Given the description of an element on the screen output the (x, y) to click on. 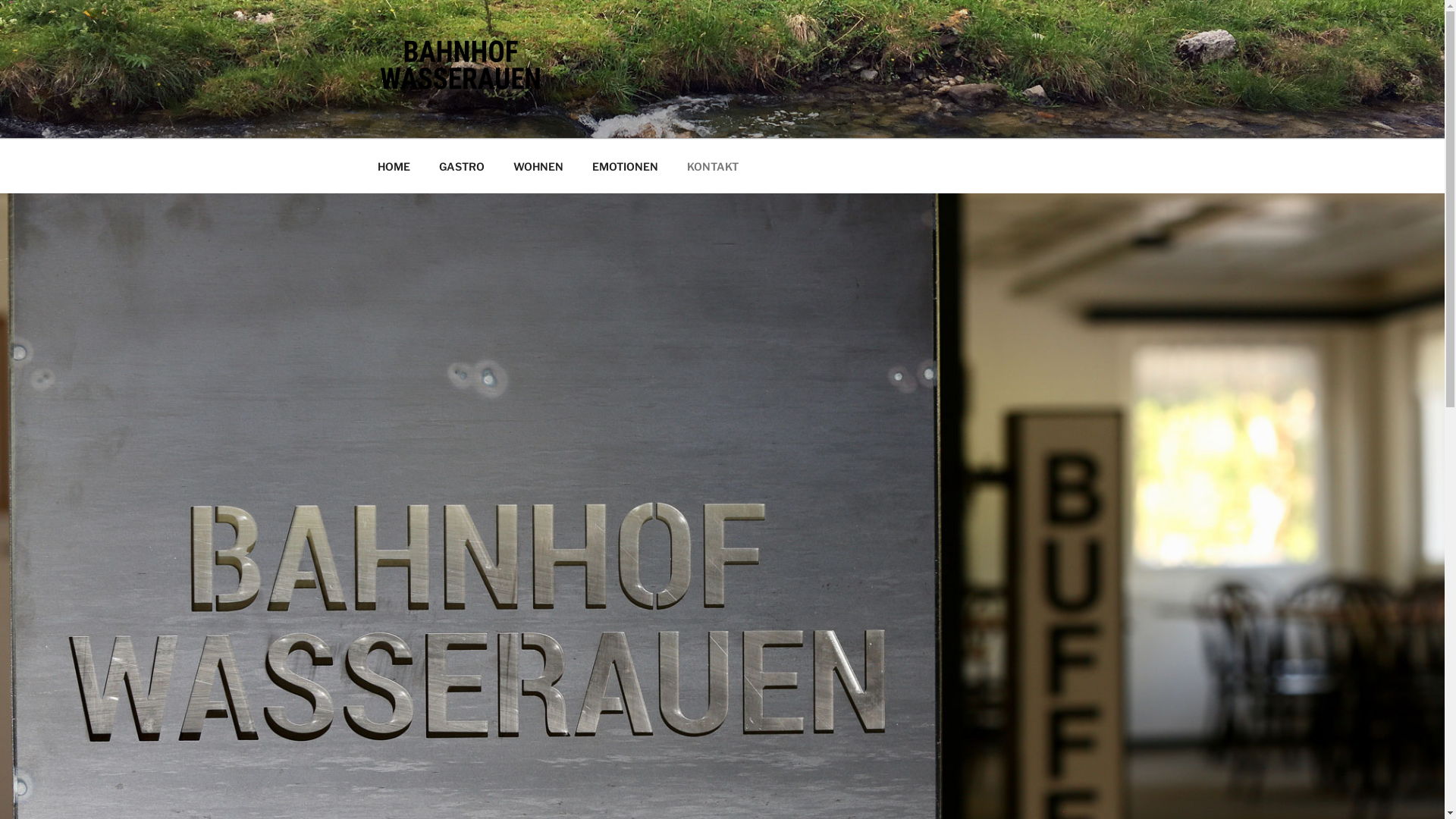
GASTRO Element type: text (462, 165)
KONTAKT Element type: text (712, 165)
WOHNEN Element type: text (538, 165)
EMOTIONEN Element type: text (625, 165)
HOME Element type: text (393, 165)
BAHNHOF WASSERAUEN Element type: text (571, 118)
